Given the description of an element on the screen output the (x, y) to click on. 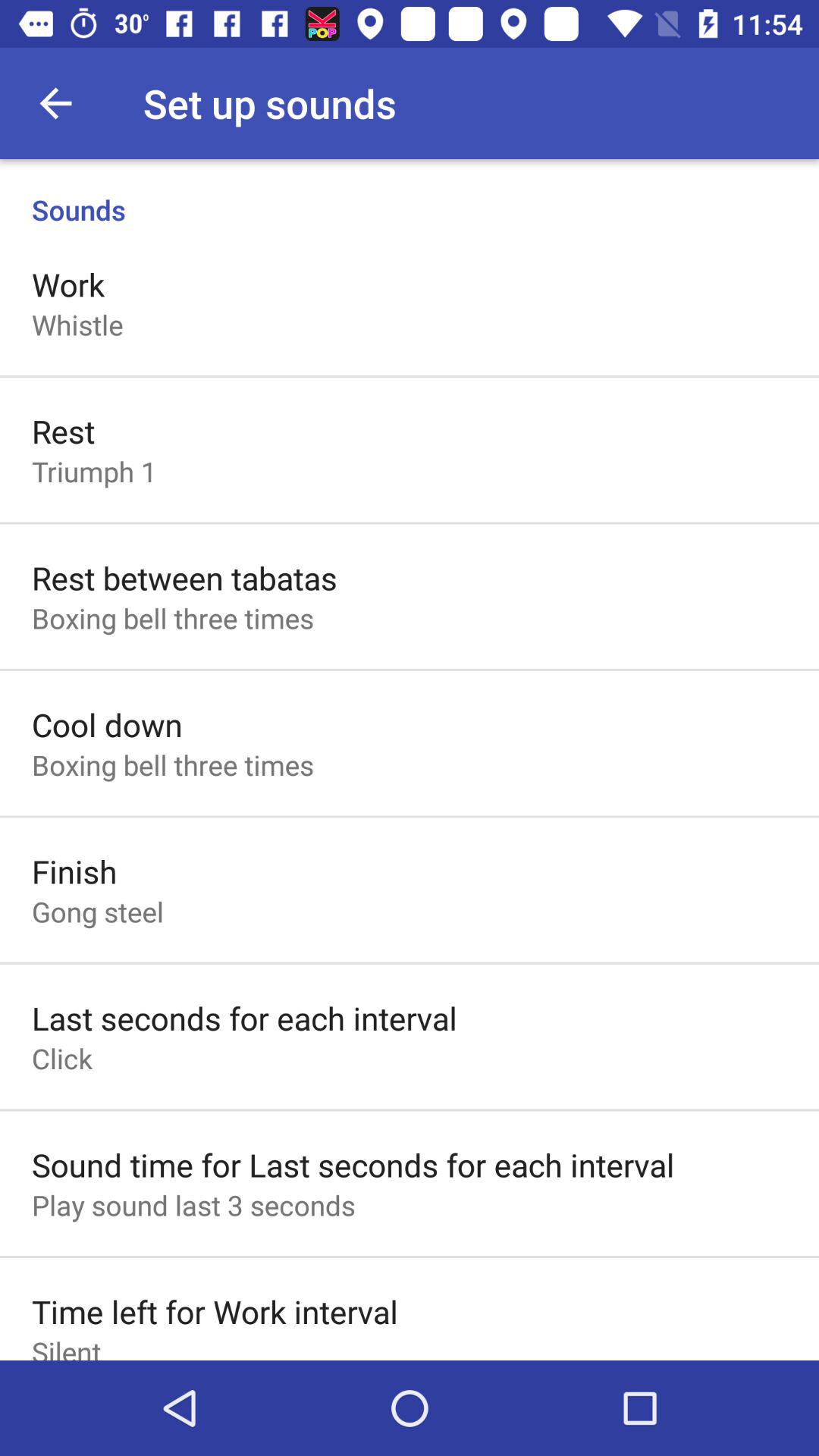
open triumph 1 item (93, 471)
